Given the description of an element on the screen output the (x, y) to click on. 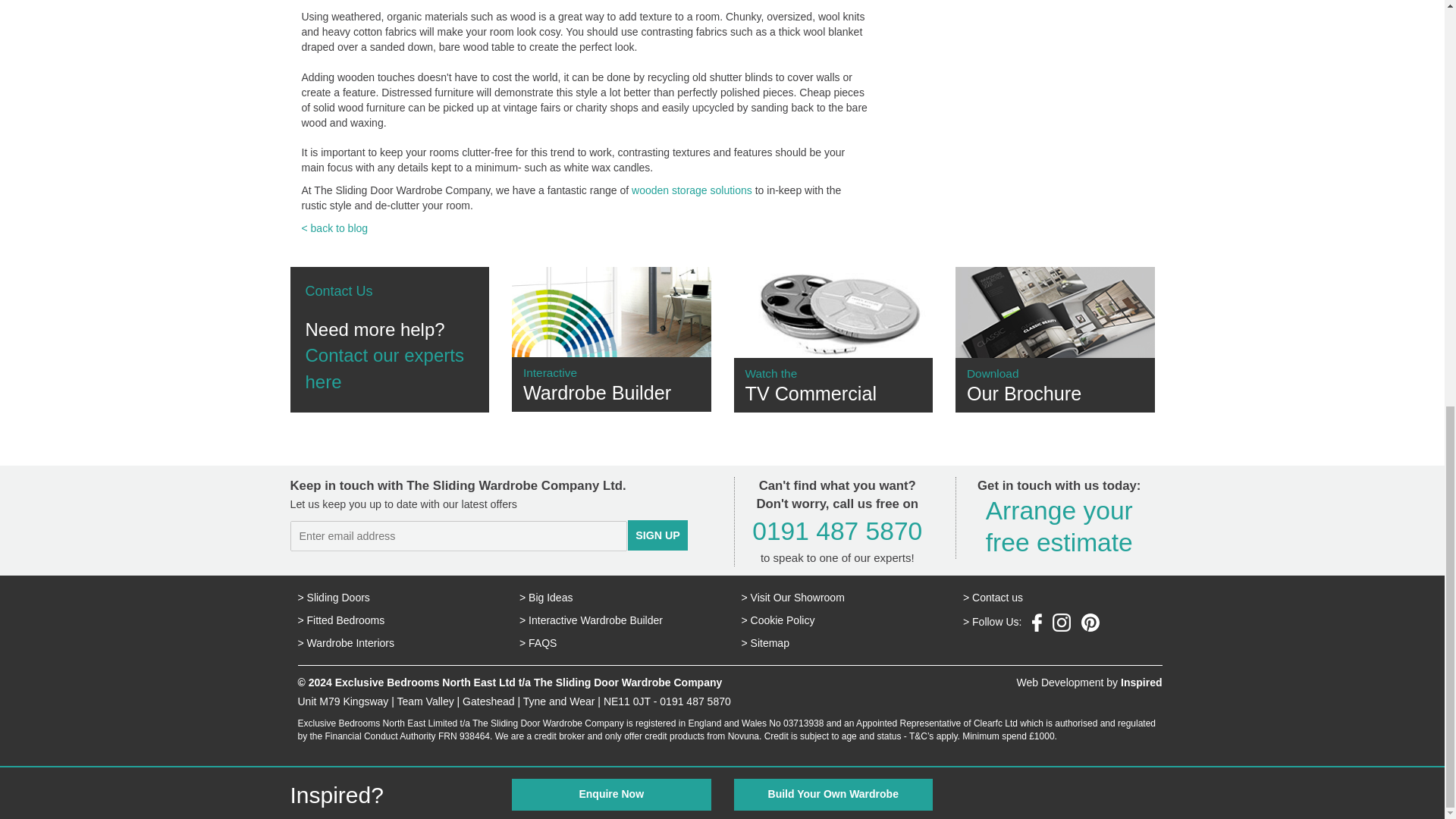
SIGN UP (1054, 339)
wooden storage solutions (1058, 526)
Our latest TV ad (611, 338)
0191 487 5870 (389, 339)
